Given the description of an element on the screen output the (x, y) to click on. 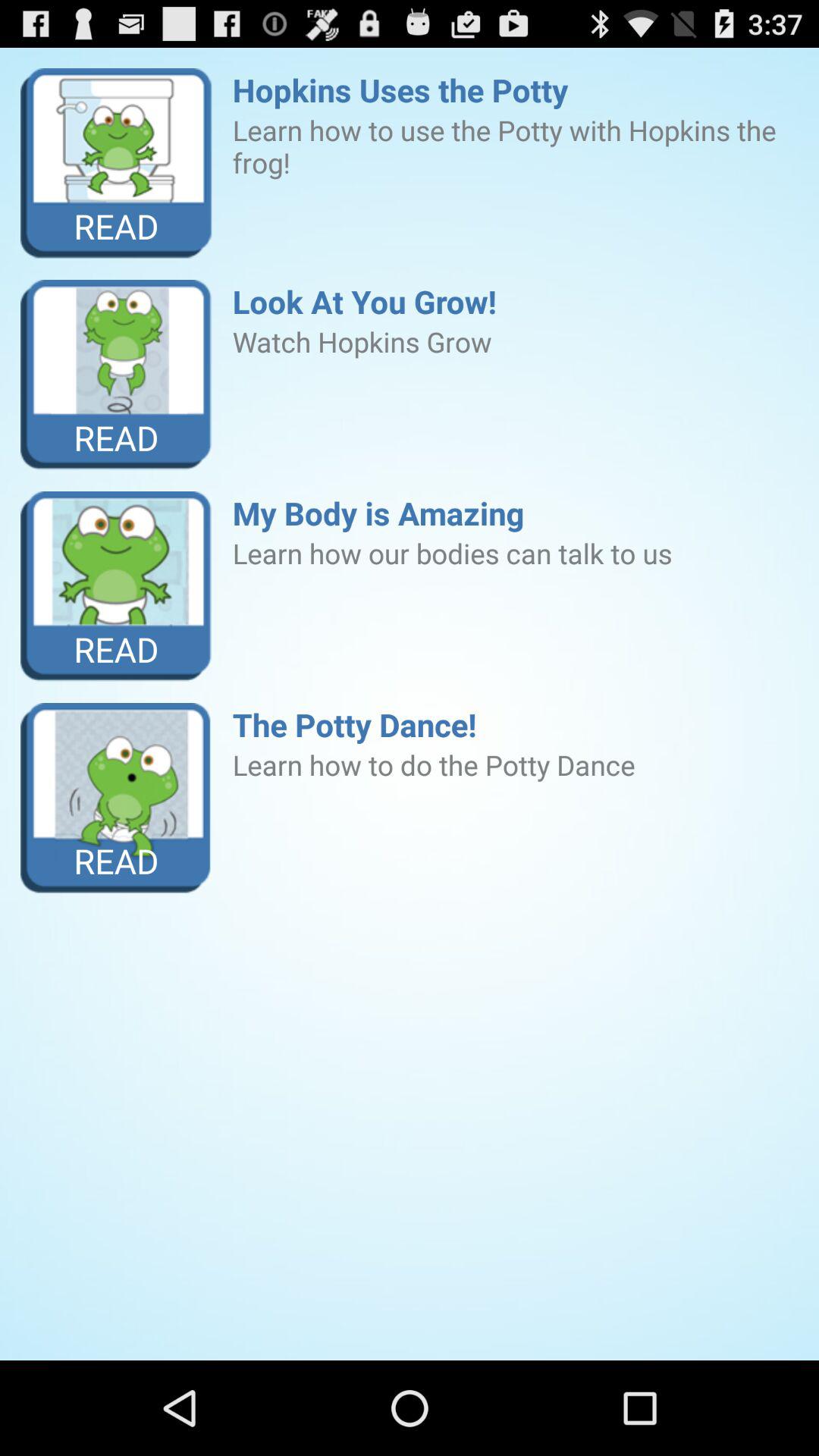
launch item to the left of my body is icon (116, 586)
